Given the description of an element on the screen output the (x, y) to click on. 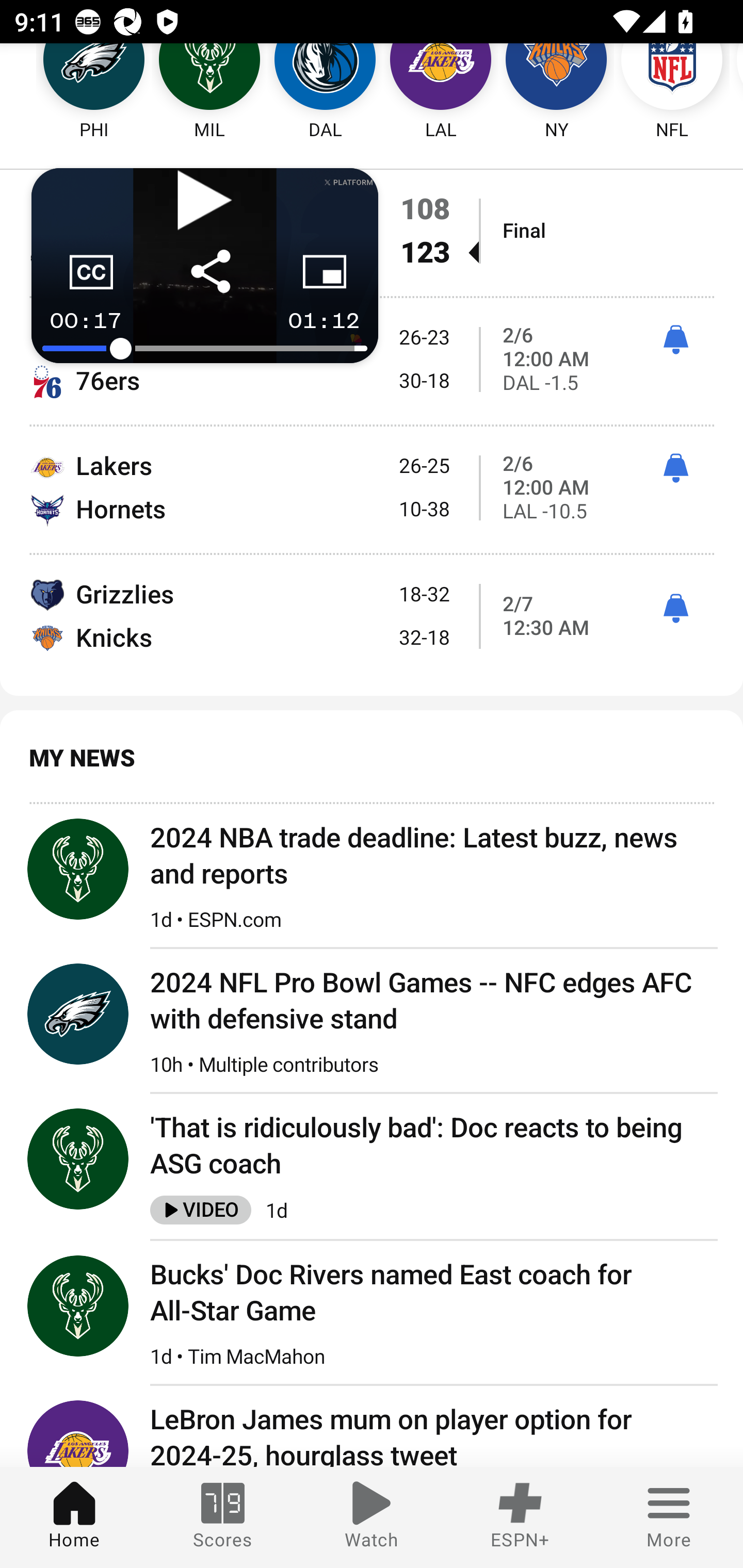
PHI Philadelphia Eagles (75, 92)
MIL Milwaukee Bucks (209, 92)
DAL Dallas Mavericks (324, 92)
LAL Los Angeles Lakers (440, 92)
NY New York Knicks (555, 92)
NFL (671, 92)
ì (675, 339)
ì (675, 467)
Grizzlies 18-32 Knicks 32-18 2/7 12:30 AM ì (371, 614)
ì (675, 608)
BUCKS (77, 869)
EAGLES (77, 1013)
BUCKS (77, 1158)
BUCKS (77, 1305)
LAKERS (77, 1433)
Scores (222, 1517)
Watch (371, 1517)
ESPN+ (519, 1517)
More (668, 1517)
